Given the description of an element on the screen output the (x, y) to click on. 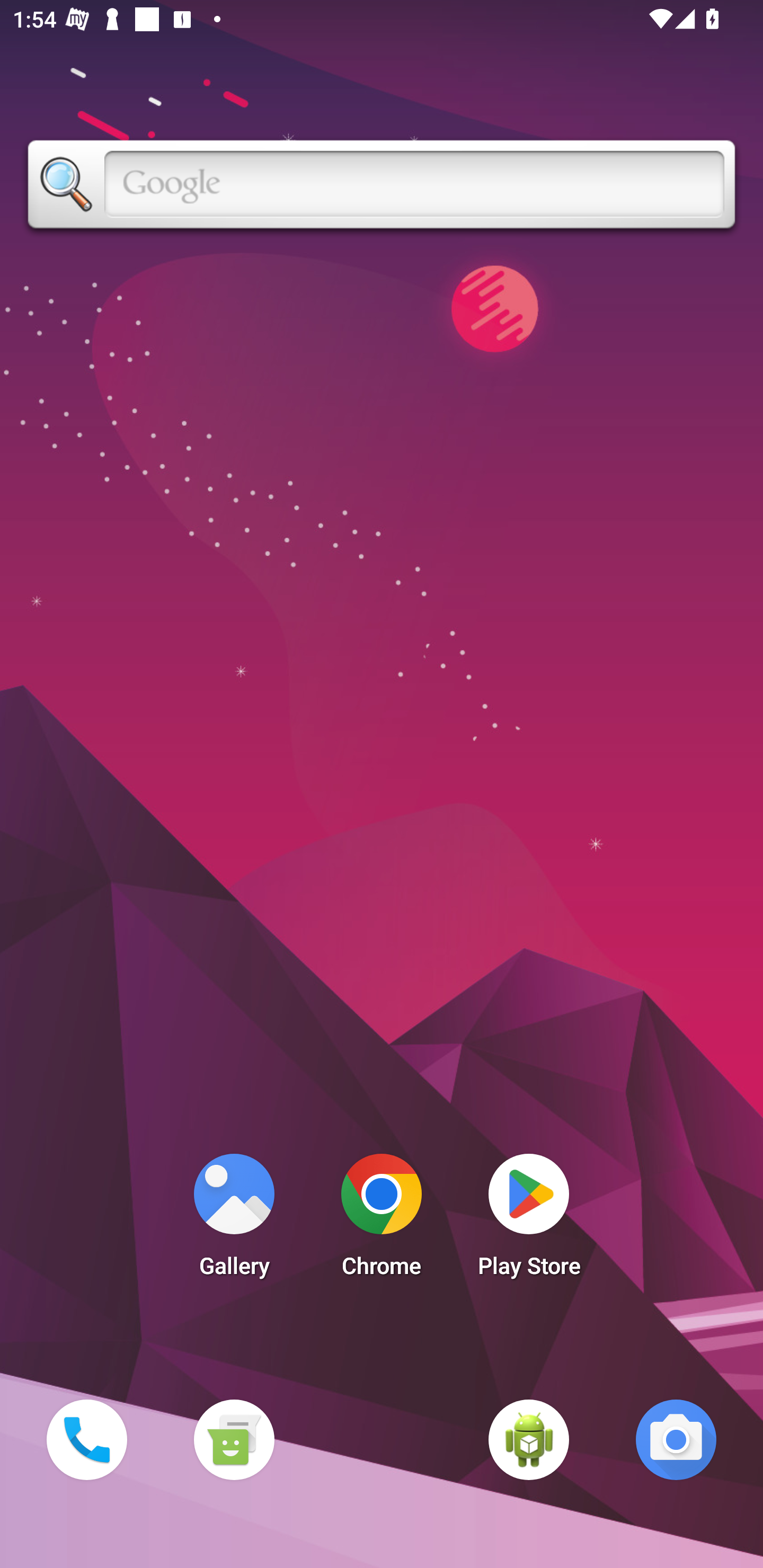
Gallery (233, 1220)
Chrome (381, 1220)
Play Store (528, 1220)
Phone (86, 1439)
Messaging (233, 1439)
WebView Browser Tester (528, 1439)
Camera (676, 1439)
